Given the description of an element on the screen output the (x, y) to click on. 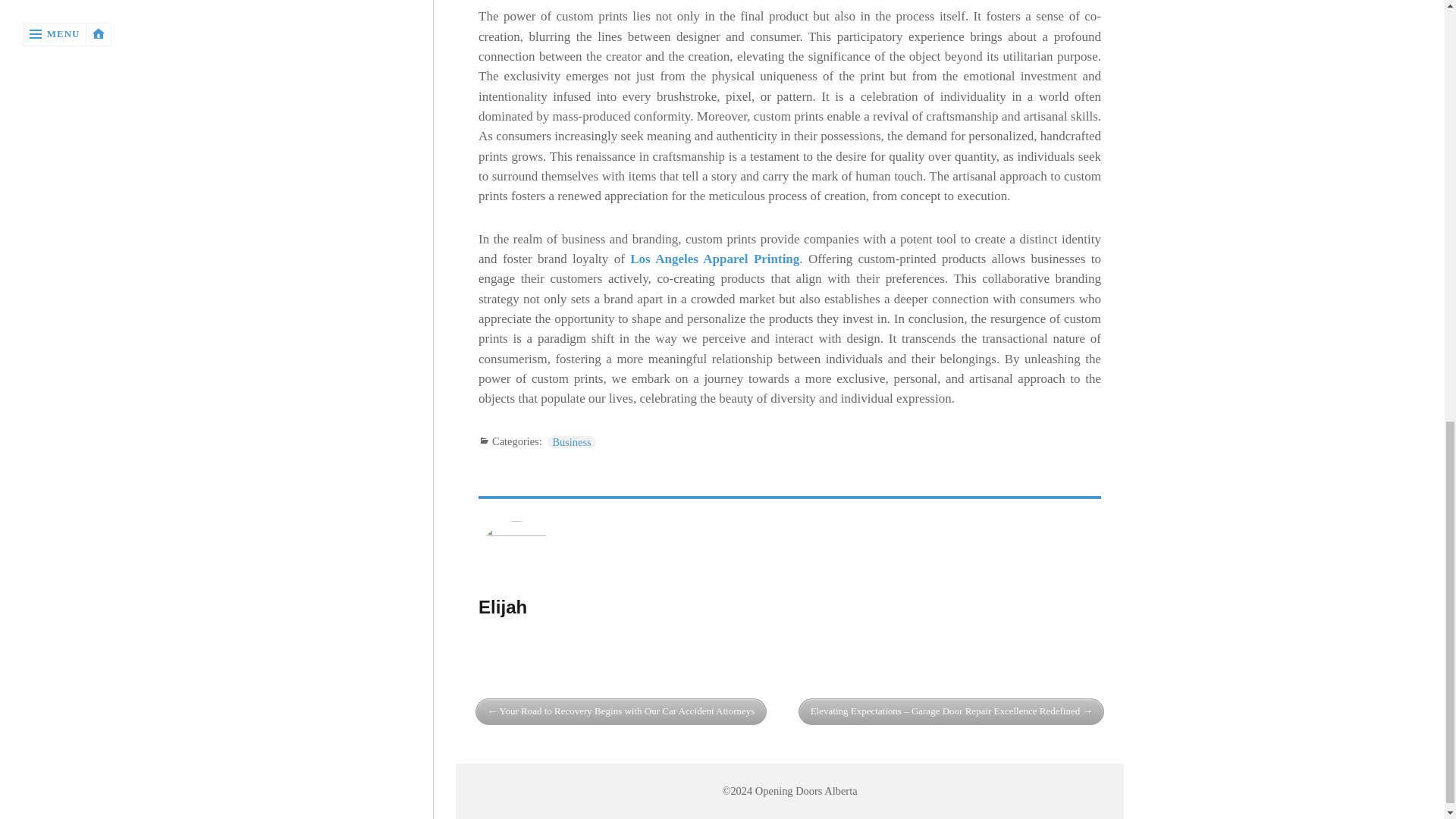
Your Road to Recovery Begins with Our Car Accident Attorneys (621, 711)
Business (571, 441)
Los Angeles Apparel Printing (714, 258)
